Given the description of an element on the screen output the (x, y) to click on. 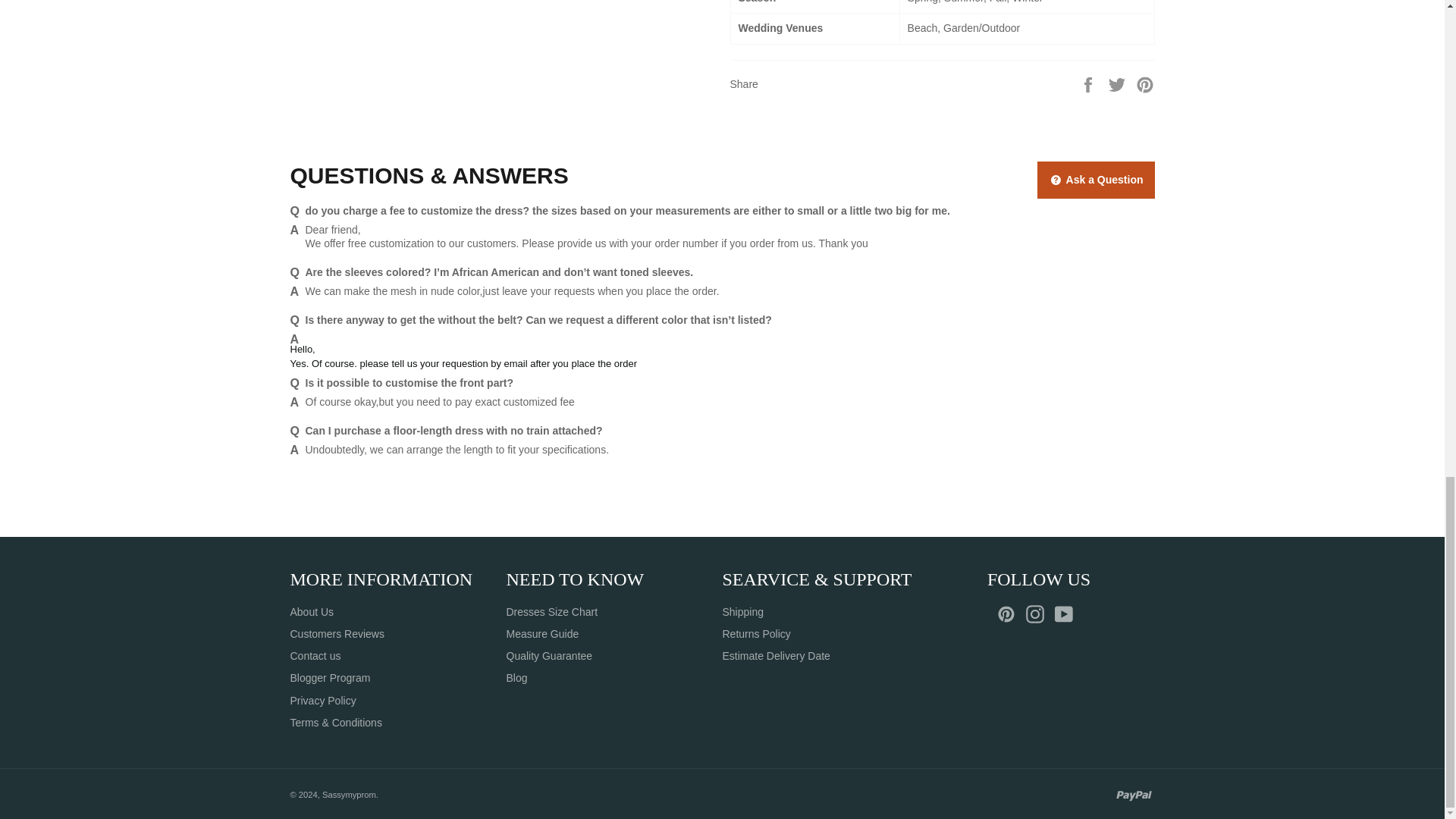
Pin on Pinterest (1144, 82)
Share on Facebook (1089, 82)
Sassymyprom on Instagram (1038, 614)
Sassymyprom on YouTube (1067, 614)
Tweet on Twitter (1118, 82)
Sassymyprom on Pinterest (1010, 614)
